Given the description of an element on the screen output the (x, y) to click on. 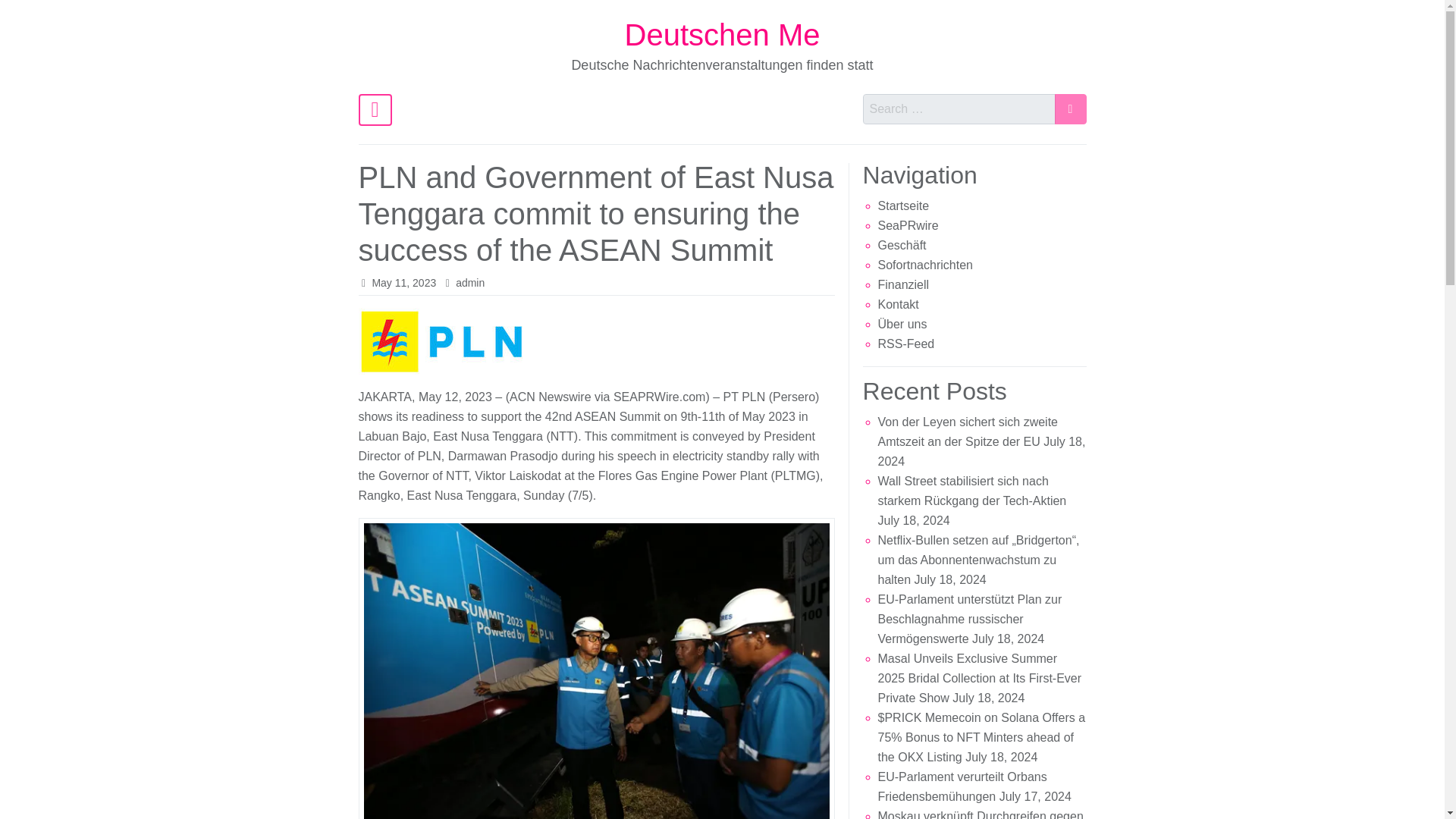
SeaPRwire (908, 225)
Deutschen Me (722, 34)
Skip to content (367, 39)
Sofortnachrichten (924, 264)
Startseite (903, 205)
Finanziell (903, 284)
RSS-Feed (905, 343)
Deutschen Me (722, 34)
admin (469, 282)
Kontakt (897, 304)
May 11, 2023 (403, 282)
